Given the description of an element on the screen output the (x, y) to click on. 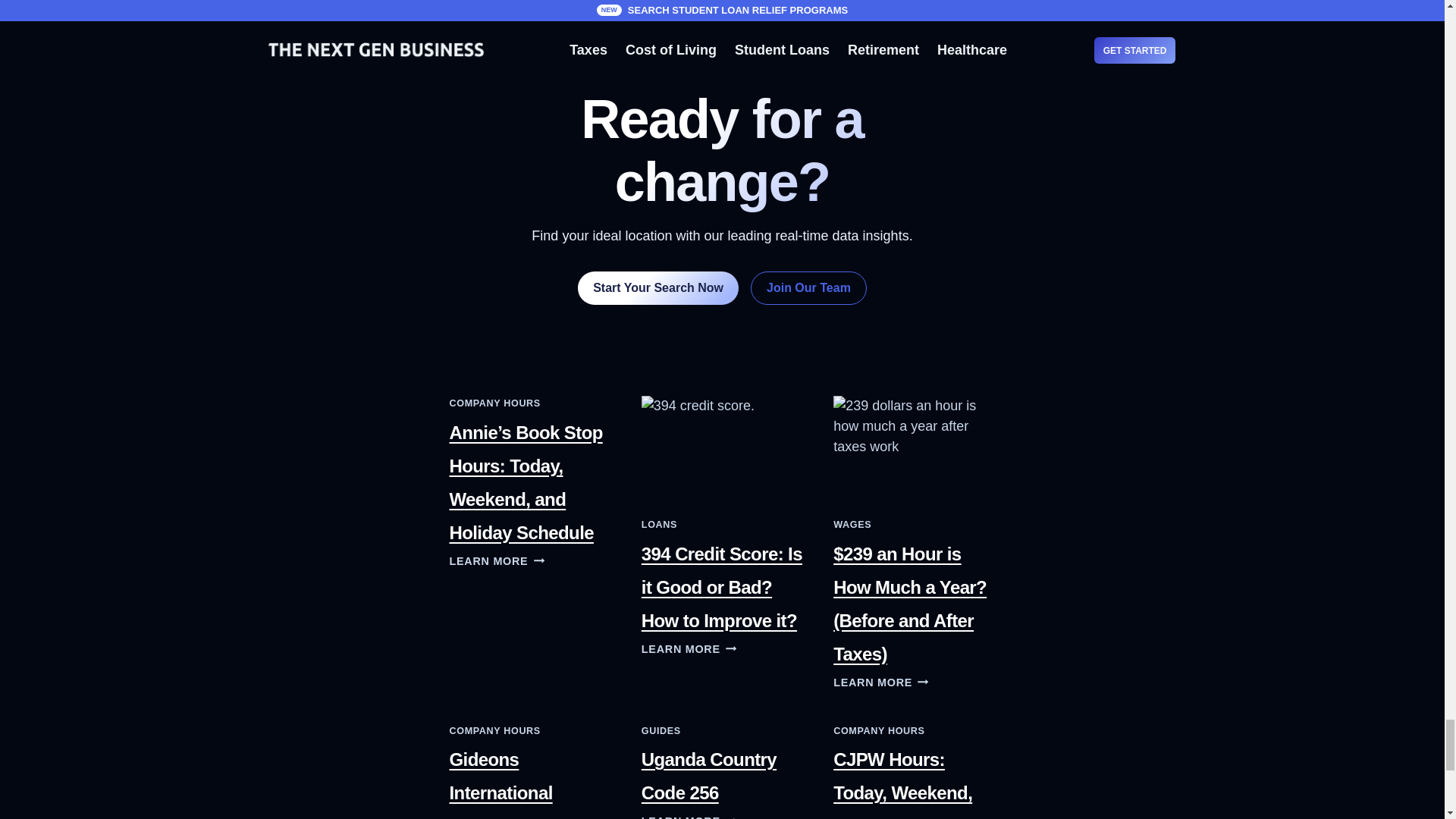
LEARN MORE (689, 648)
LEARN MORE (496, 561)
394 Credit Score: Is it Good or Bad? How to Improve it? (722, 586)
LOANS (659, 524)
WAGES (851, 524)
Start Your Search Now (658, 287)
Join Our Team (808, 287)
COMPANY HOURS (494, 403)
